Given the description of an element on the screen output the (x, y) to click on. 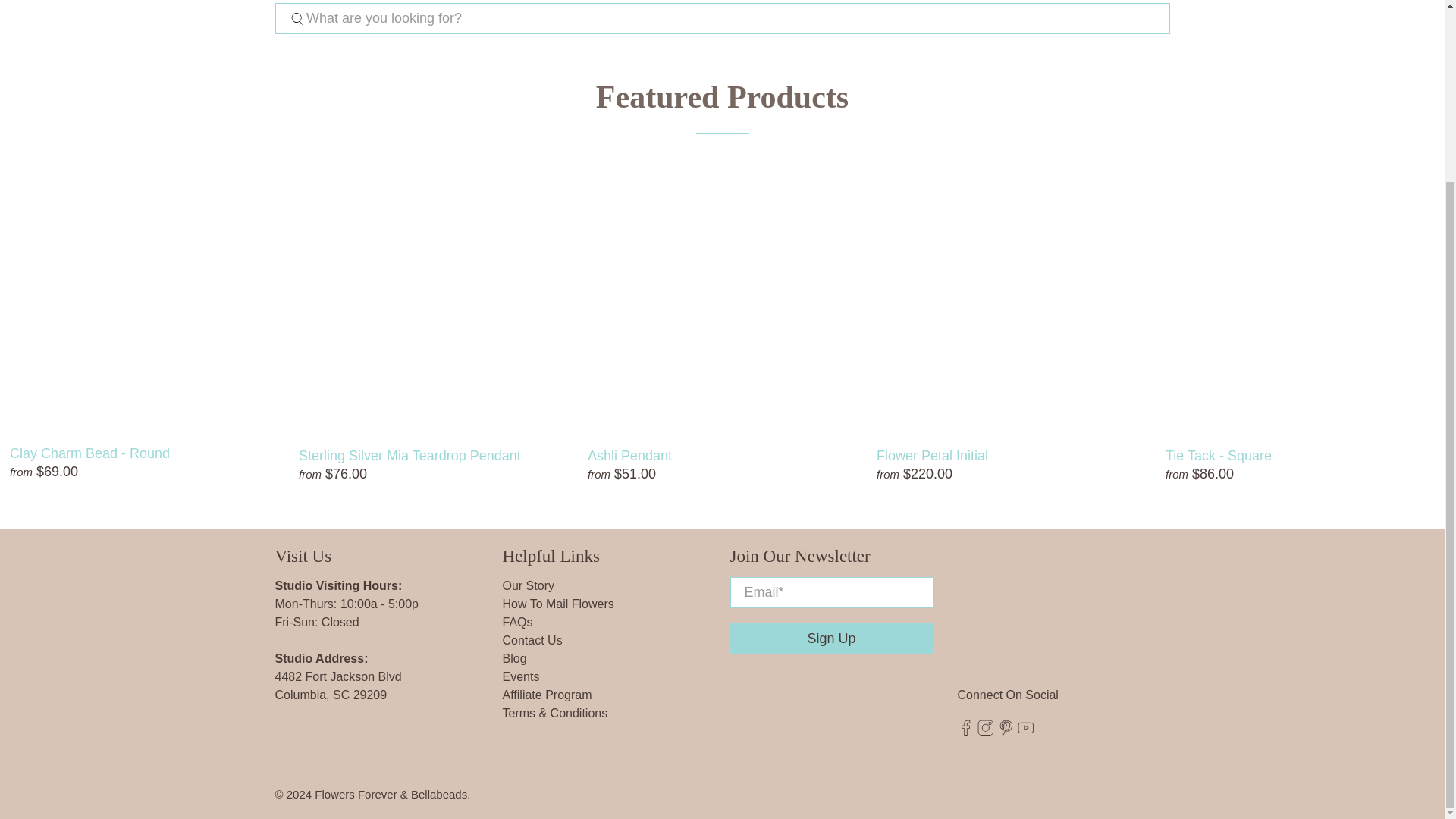
Featured Products (721, 96)
Clay Charm Bead - Round (144, 452)
